Given the description of an element on the screen output the (x, y) to click on. 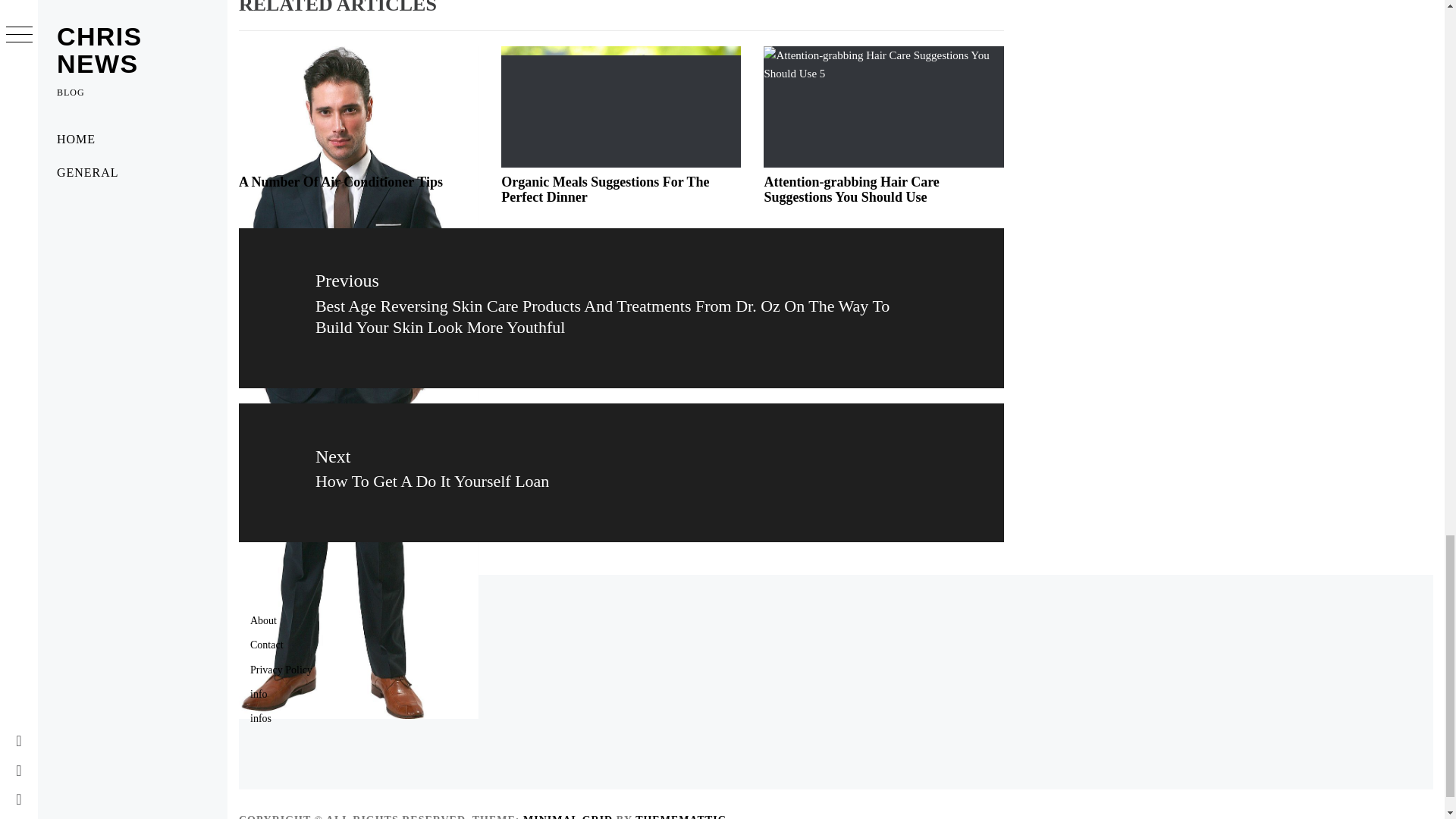
Attention-grabbing Hair Care Suggestions You Should Use (621, 472)
A Number Of Air Conditioner Tips (850, 189)
Organic Meals Suggestions For The Perfect Dinner (340, 181)
